Given the description of an element on the screen output the (x, y) to click on. 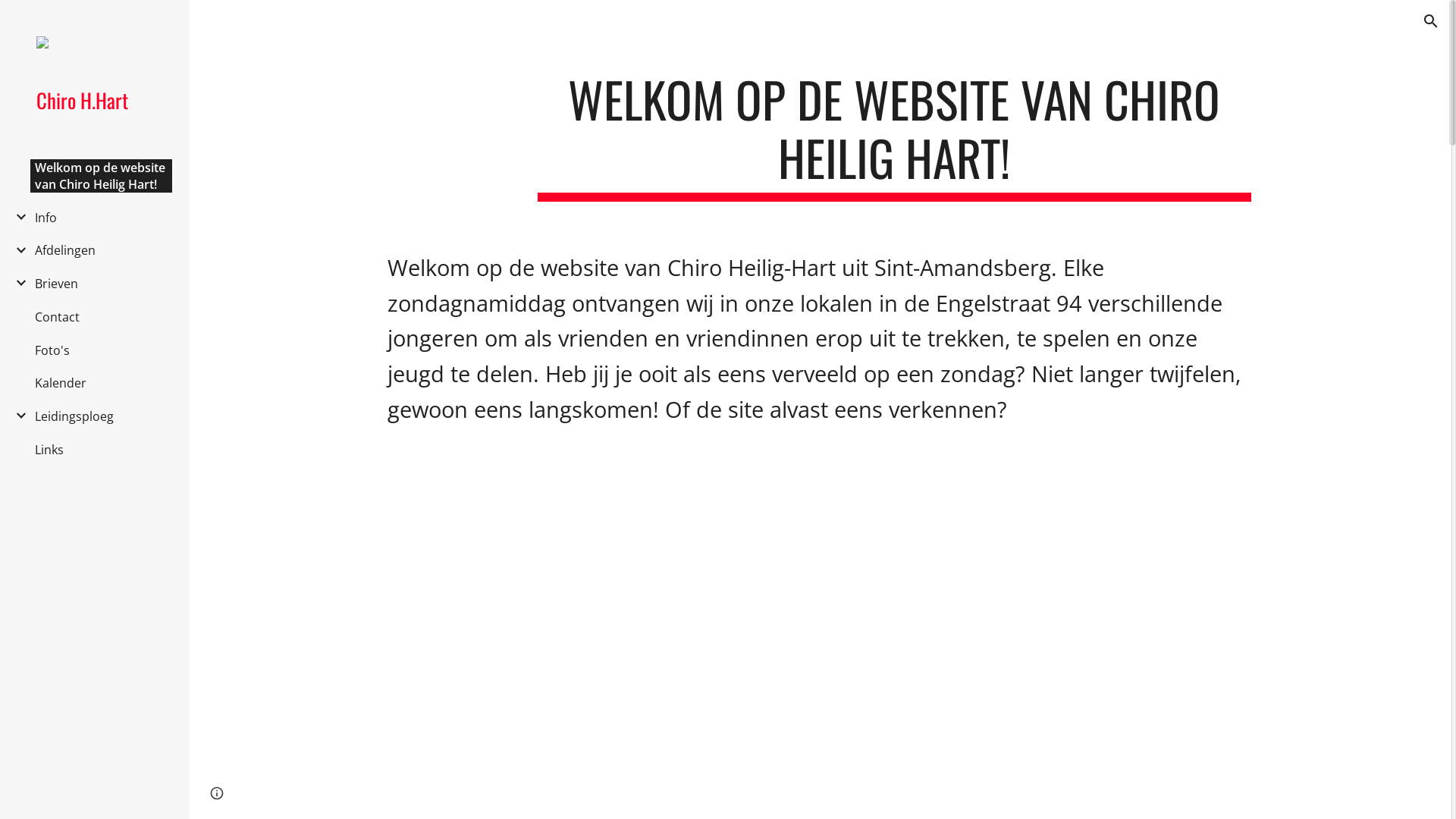
Brieven Element type: text (56, 283)
Expand/Collapse Element type: hover (16, 282)
Afdelingen Element type: text (65, 249)
Chiro H.Hart Element type: text (100, 99)
Links Element type: text (49, 449)
Expand/Collapse Element type: hover (16, 250)
Info Element type: text (45, 217)
Expand/Collapse Element type: hover (16, 415)
Kalender Element type: text (60, 382)
Contact Element type: text (57, 316)
Foto's Element type: text (52, 350)
Expand/Collapse Element type: hover (16, 216)
Leidingsploeg Element type: text (74, 415)
Welkom op de website van Chiro Heilig Hart! Element type: text (101, 175)
